Given the description of an element on the screen output the (x, y) to click on. 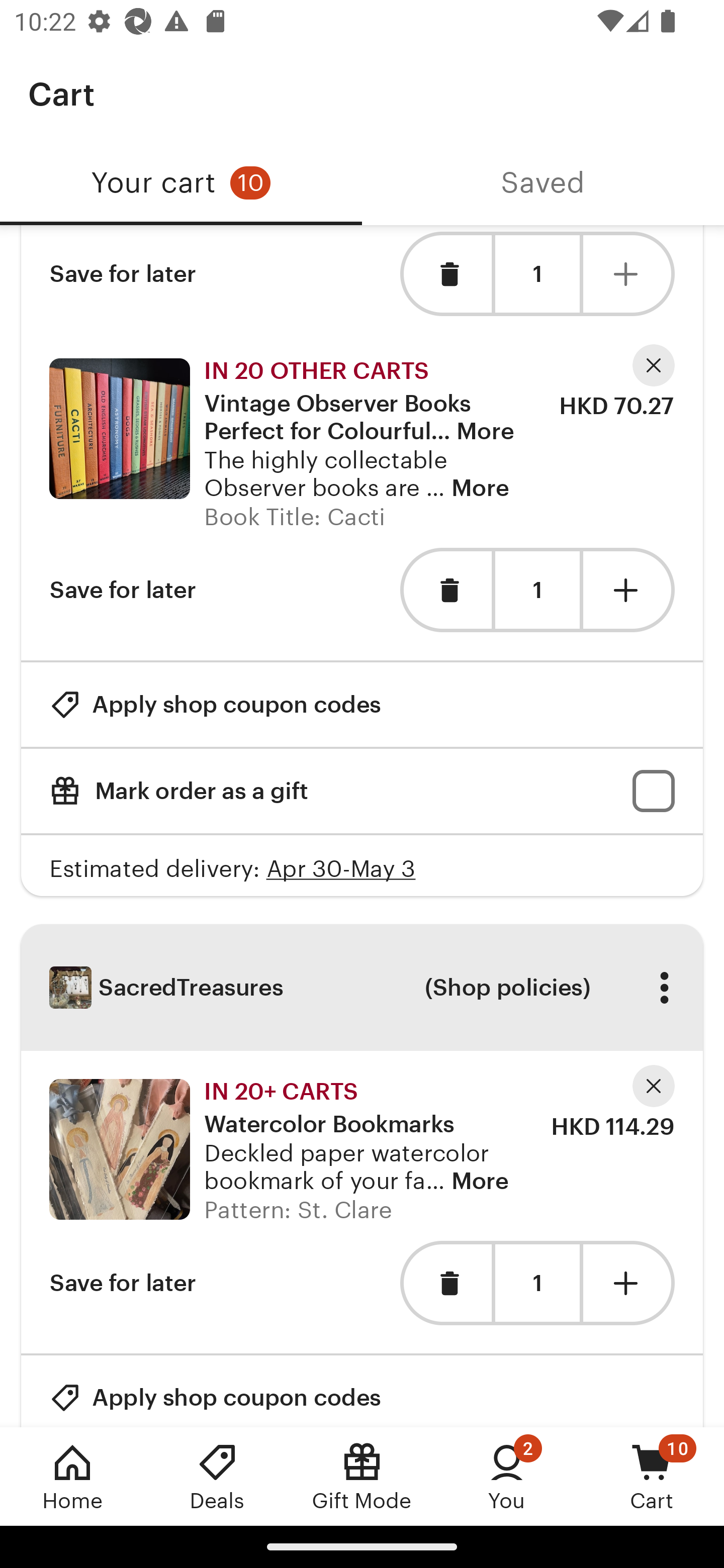
Saved, tab 2 of 2 Saved (543, 183)
Save for later (122, 274)
Remove item from cart (445, 274)
Add one unit to cart (628, 274)
1 (537, 274)
Save for later (122, 589)
Remove item from cart (445, 589)
Add one unit to cart (628, 589)
1 (537, 590)
Apply shop coupon codes (215, 703)
Mark order as a gift (361, 790)
SacredTreasures (Shop policies) More options (361, 986)
(Shop policies) (507, 987)
More options (663, 987)
Watercolor Bookmarks (119, 1148)
Save for later (122, 1282)
Remove item from cart (445, 1282)
Add one unit to cart (628, 1282)
1 (537, 1283)
Apply shop coupon codes (215, 1390)
Home (72, 1475)
Deals (216, 1475)
Gift Mode (361, 1475)
You, 2 new notifications You (506, 1475)
